Given the description of an element on the screen output the (x, y) to click on. 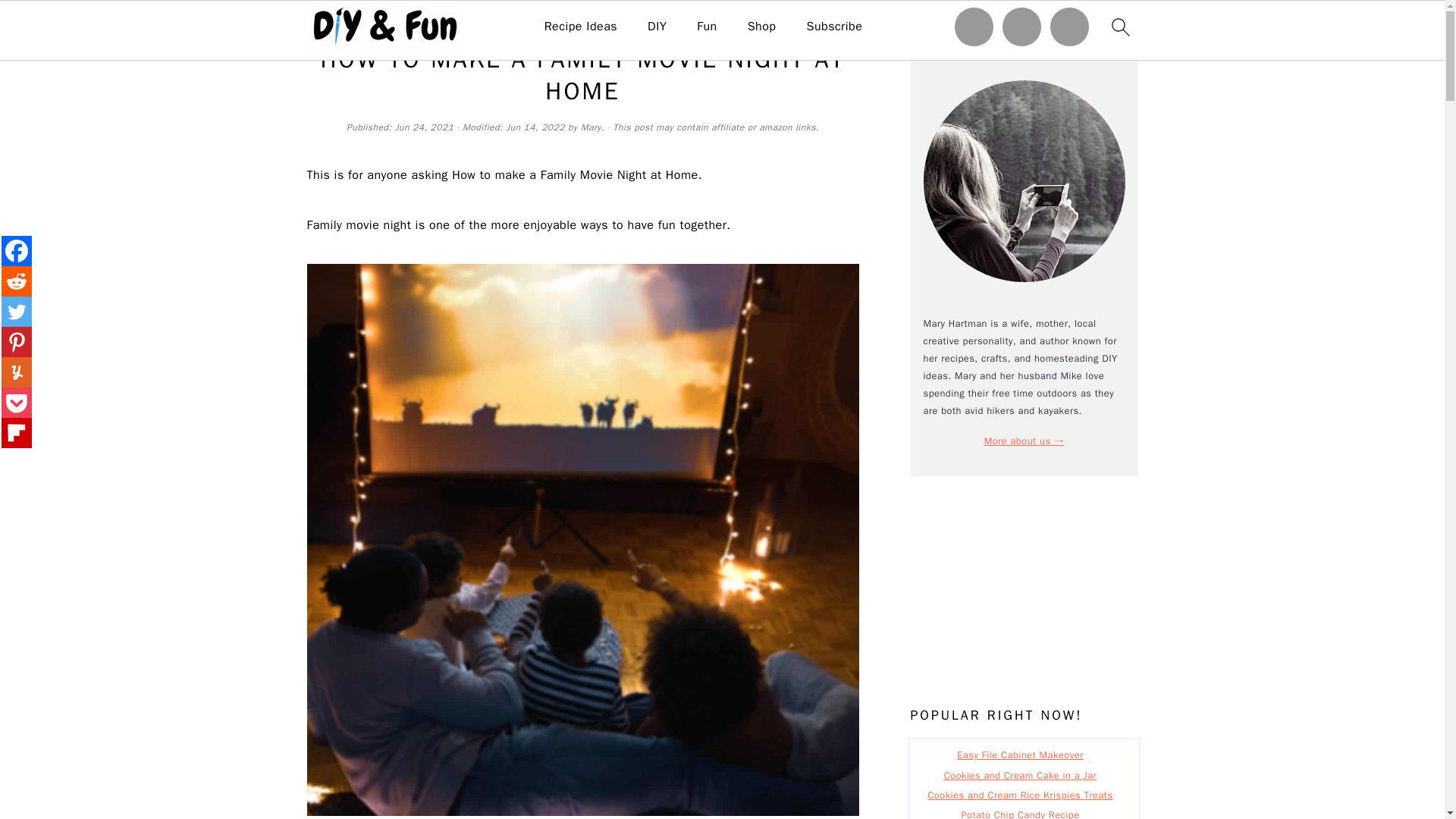
Pocket (16, 402)
Twitter (16, 311)
Recipe Ideas (580, 26)
Fun (706, 26)
Yummly (16, 372)
Facebook (16, 250)
Pinterest (16, 341)
Reddit (16, 281)
Shop (762, 26)
DIY (656, 26)
search icon (1119, 26)
Family (357, 23)
Home (319, 23)
